Given the description of an element on the screen output the (x, y) to click on. 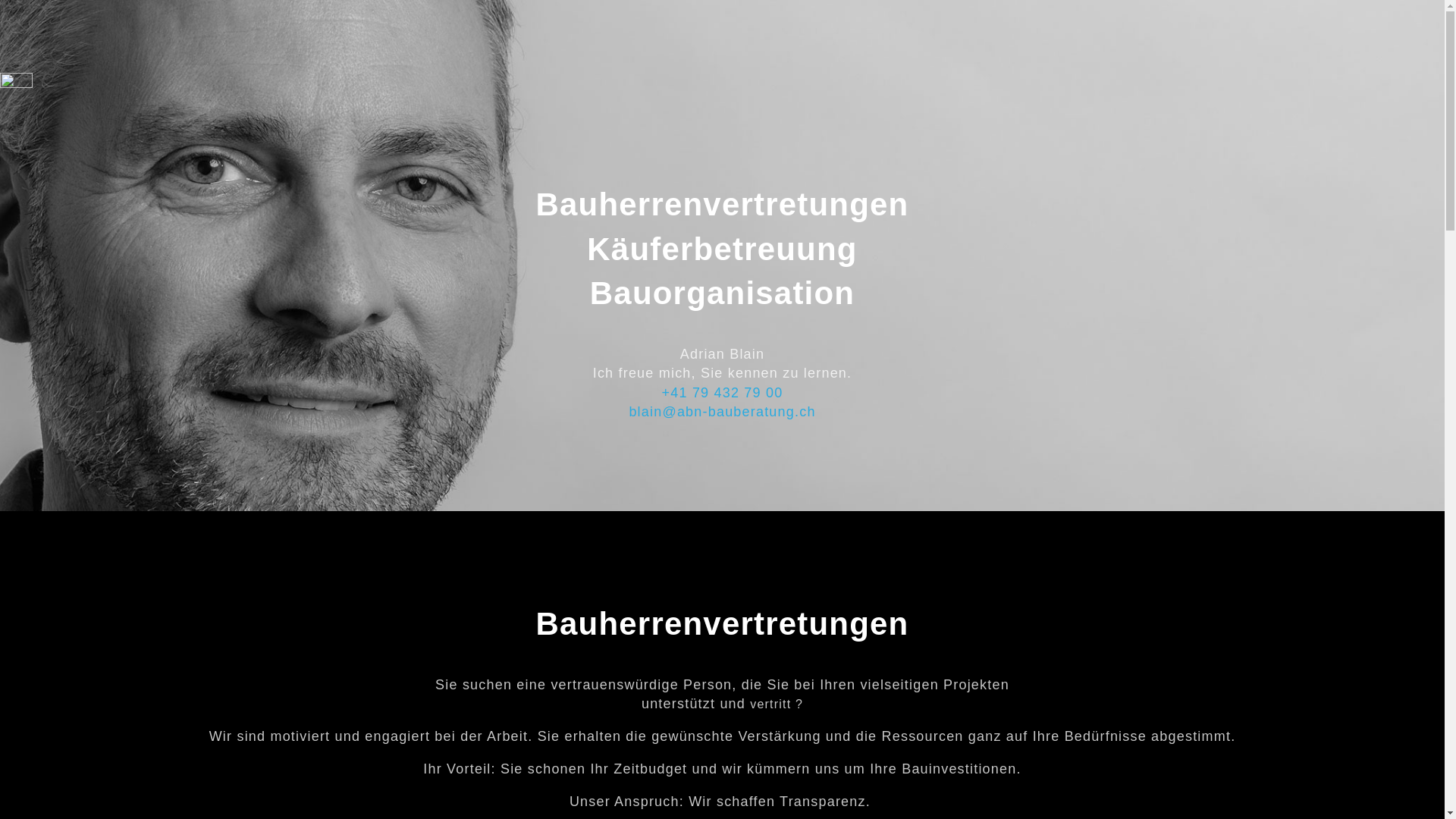
blain@abn-bauberatung.ch Element type: text (721, 411)
+41 79 432 79 00 Element type: text (722, 392)
